Given the description of an element on the screen output the (x, y) to click on. 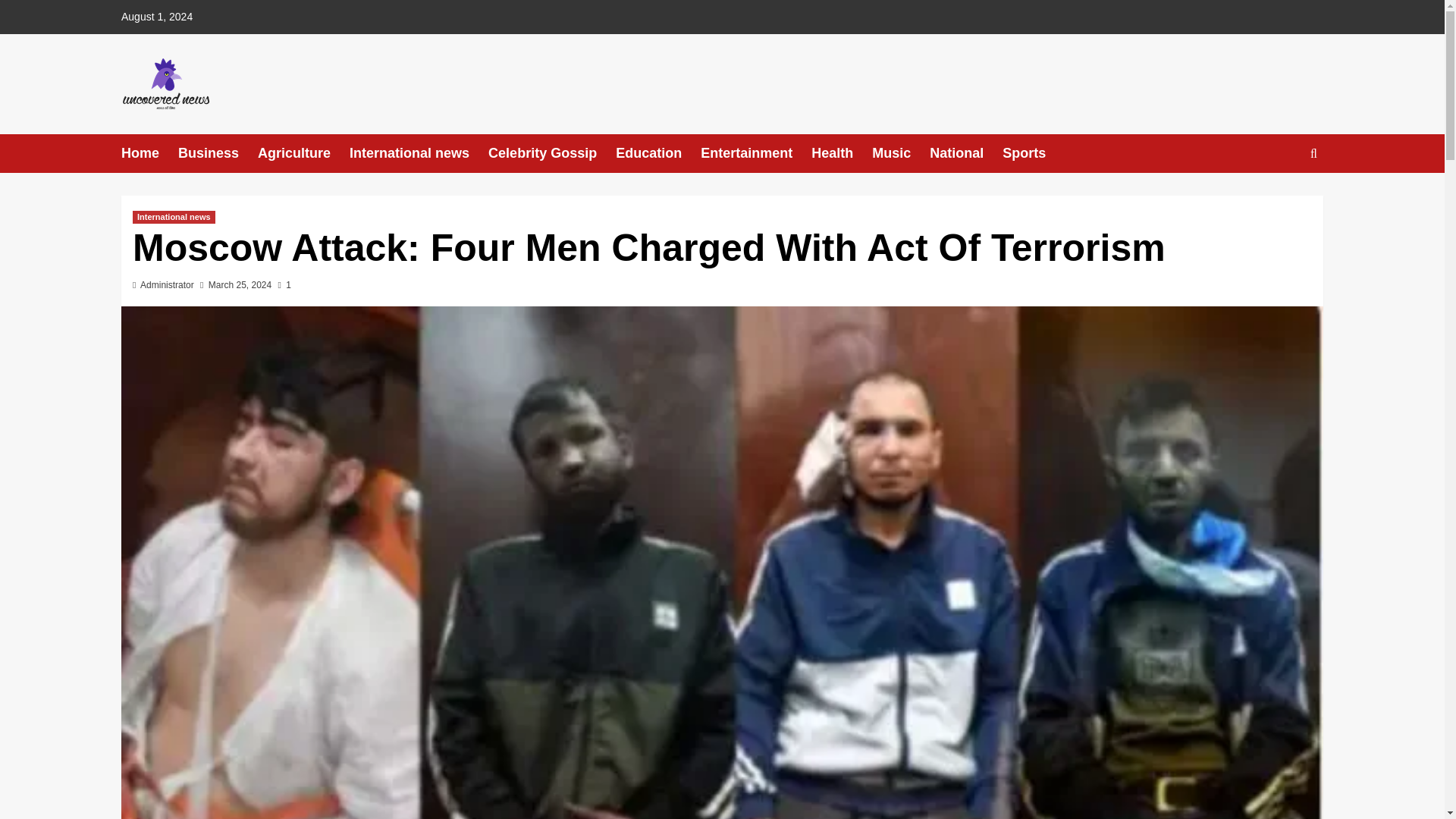
Administrator (166, 285)
1 (284, 285)
Agriculture (303, 153)
International news (173, 216)
Search (1278, 200)
March 25, 2024 (239, 285)
Home (148, 153)
Entertainment (755, 153)
Education (657, 153)
Celebrity Gossip (551, 153)
Sports (1033, 153)
Health (841, 153)
Music (901, 153)
Business (217, 153)
National (966, 153)
